Given the description of an element on the screen output the (x, y) to click on. 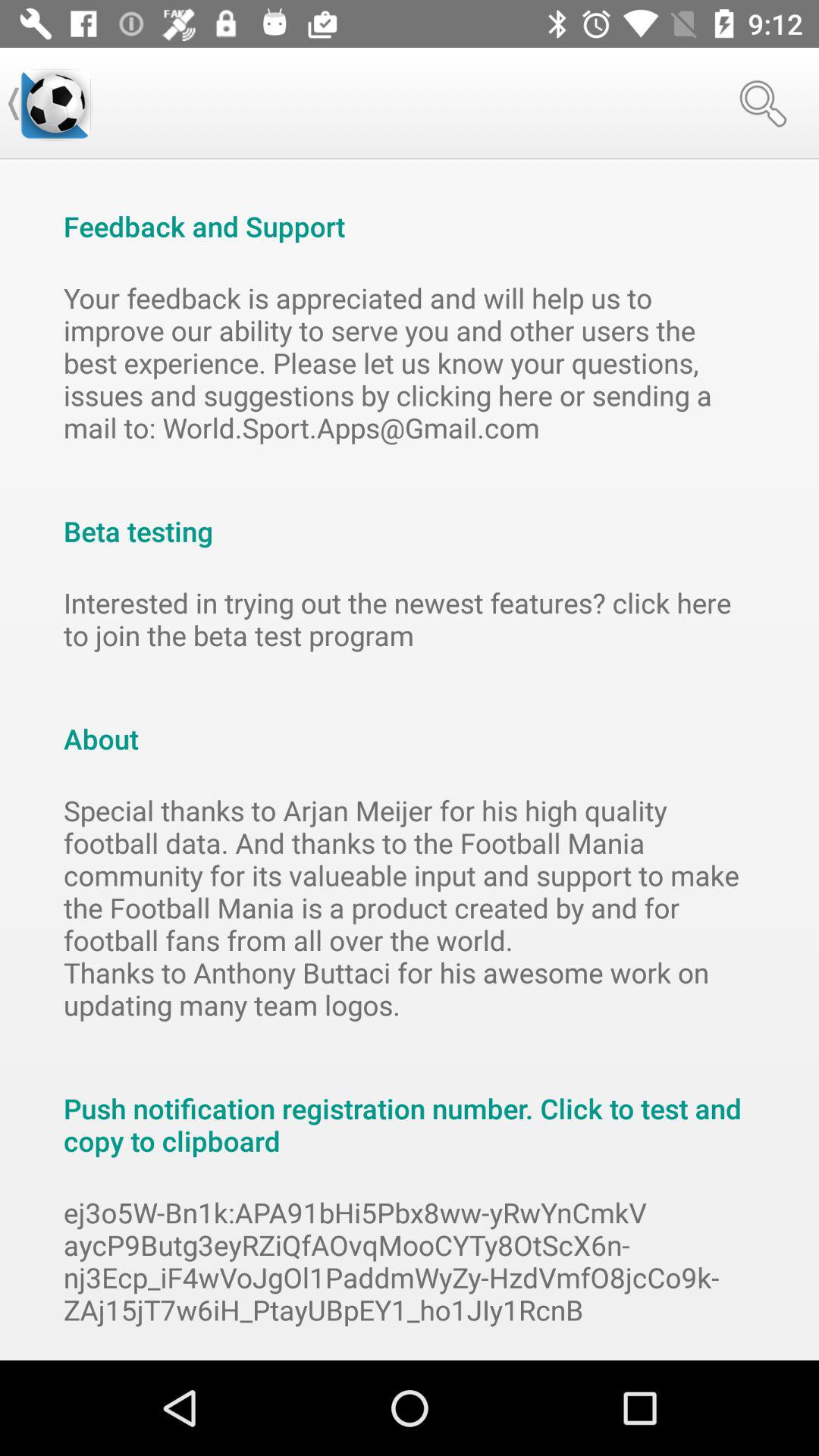
turn off the icon above ej3o5w bn1k apa91bhi5pbx8ww icon (409, 1108)
